Given the description of an element on the screen output the (x, y) to click on. 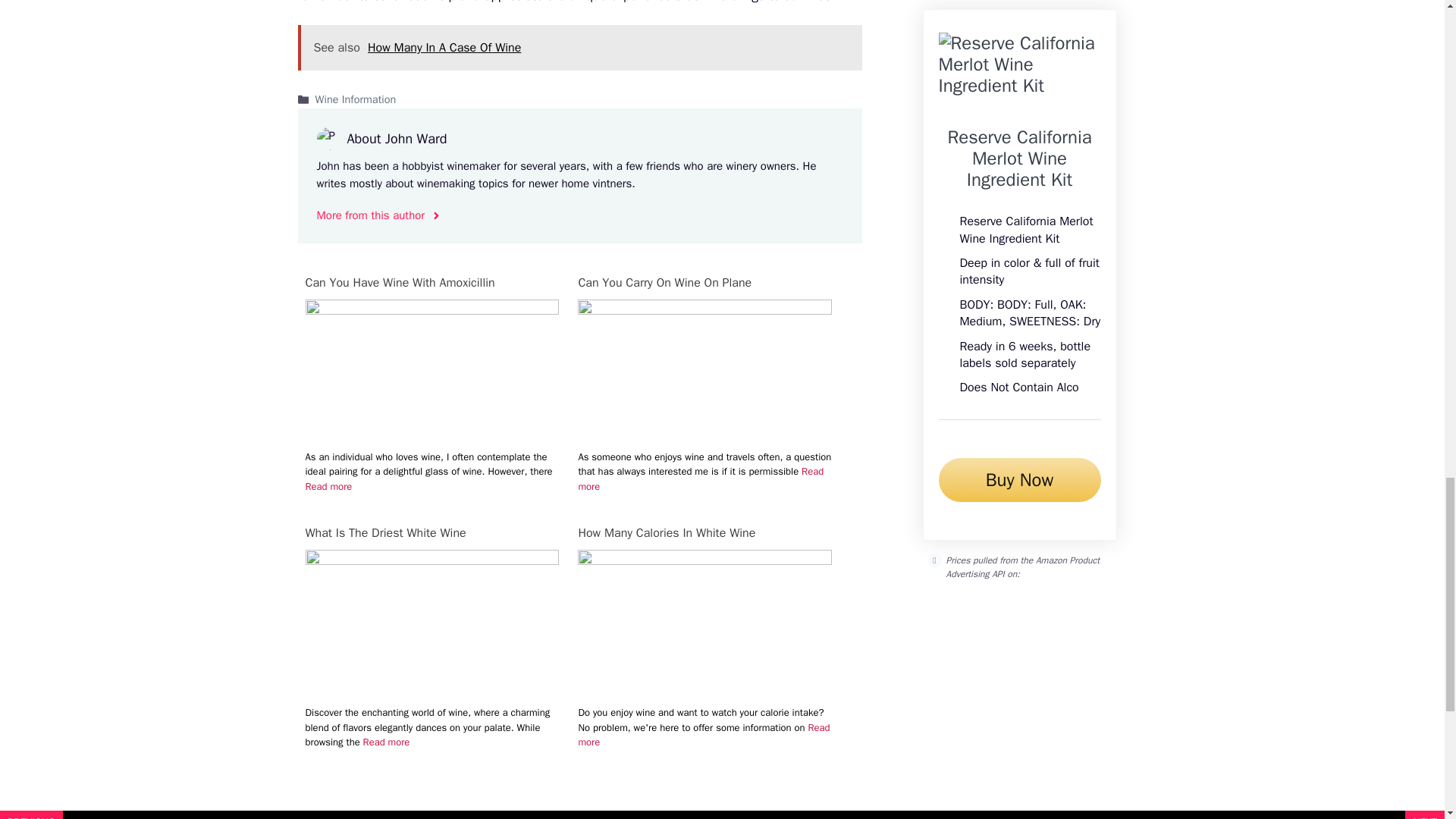
How Many Calories In White Wine (704, 533)
What Is The Driest White Wine (431, 533)
Read more (701, 479)
How Many Calories In White Wine (704, 560)
Read more (386, 741)
Reserve California Merlot Wine Ingredient Kit (1019, 158)
Can You Carry On Wine On Plane (704, 282)
Can You Have Wine With Amoxicillin (431, 310)
Can You Have Wine With Amoxicillin (431, 282)
Read more (703, 735)
